Given the description of an element on the screen output the (x, y) to click on. 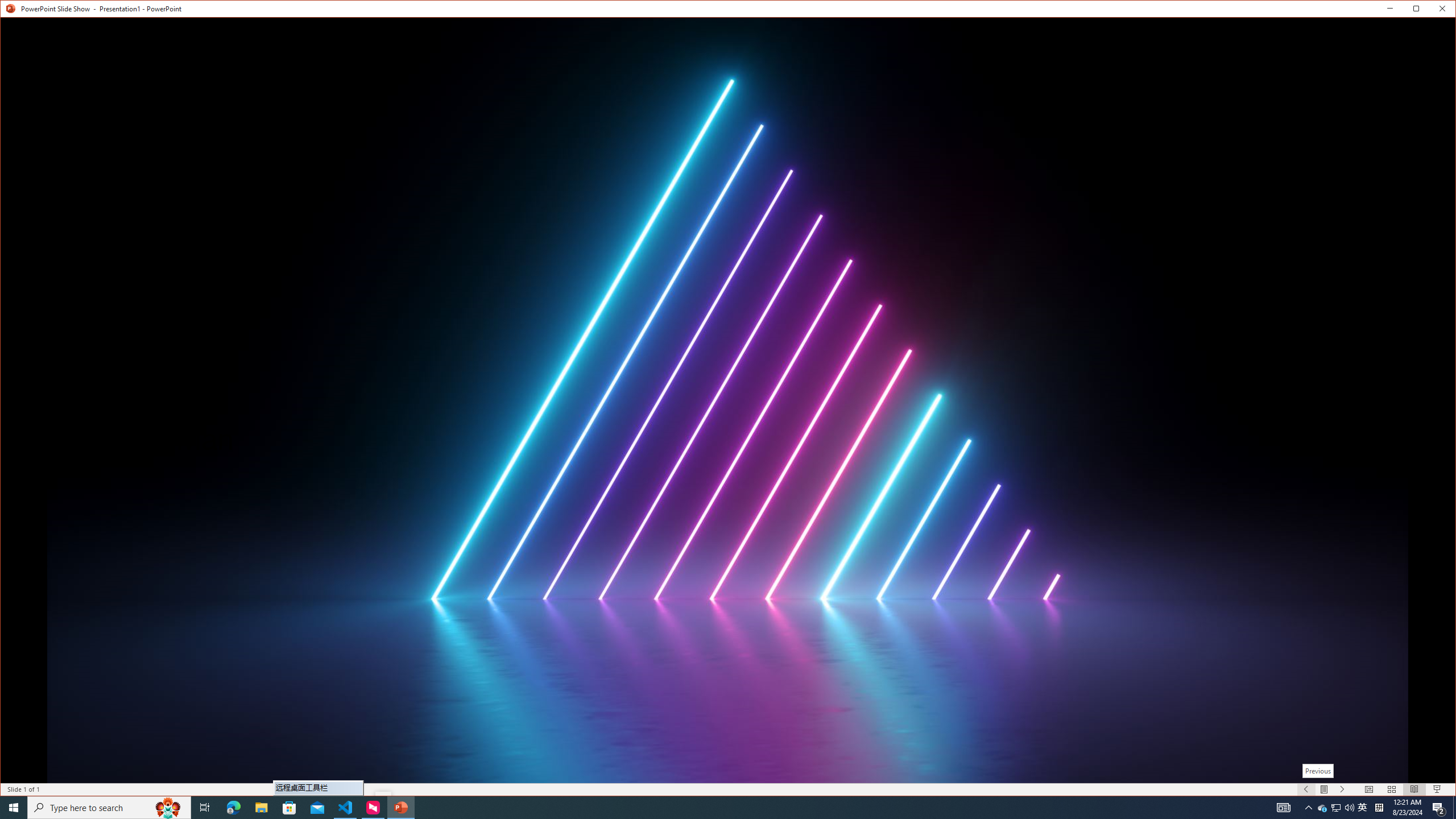
Previous (1318, 771)
Notification Chevron (1308, 807)
Running applications (700, 807)
Slide Show Previous On (1306, 789)
Maximize (1432, 11)
